Given the description of an element on the screen output the (x, y) to click on. 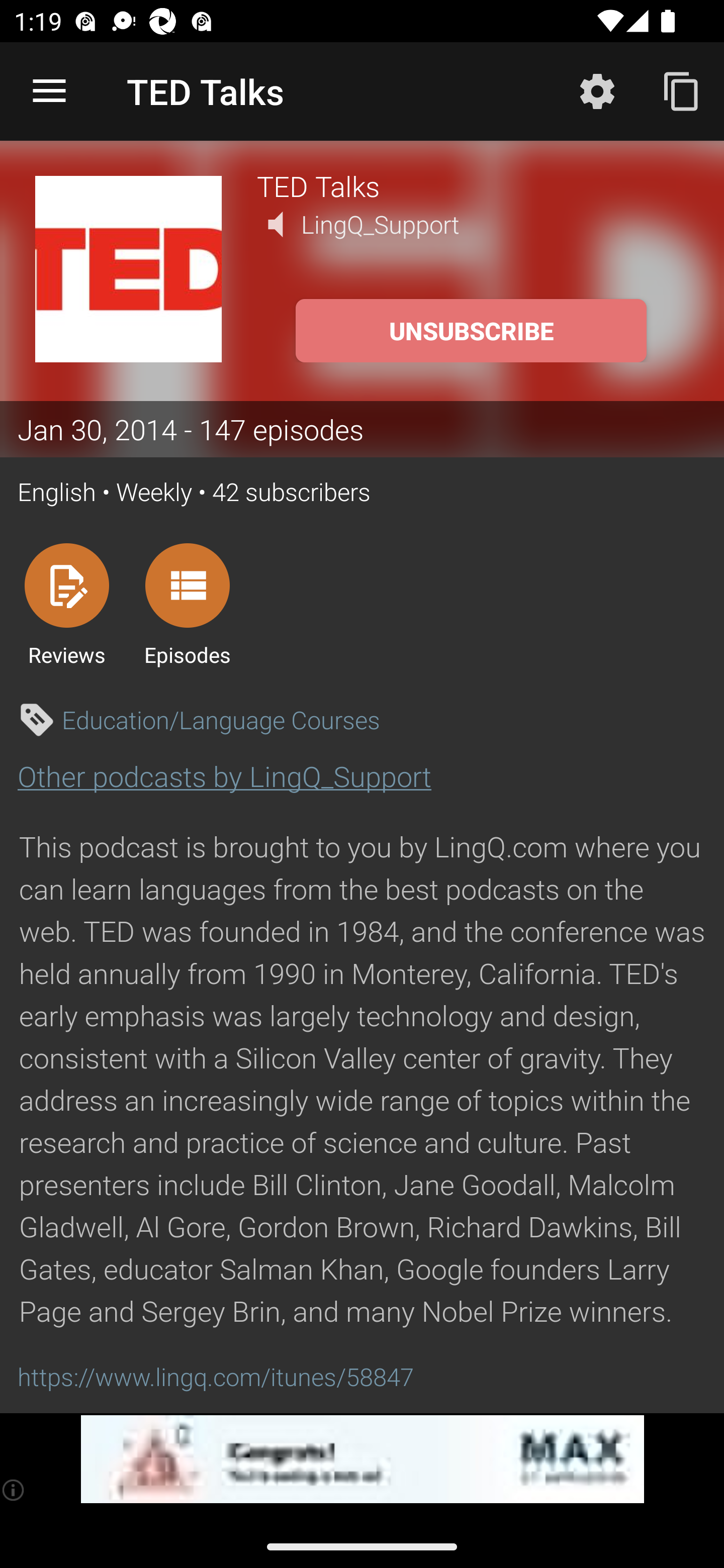
Open navigation sidebar (49, 91)
Settings (597, 90)
Copy feed url to clipboard (681, 90)
TED Talks (472, 185)
UNSUBSCRIBE (470, 330)
Reviews (66, 604)
Episodes (187, 604)
Other podcasts by LingQ_Support (224, 775)
app-monetization (362, 1459)
(i) (14, 1489)
